Given the description of an element on the screen output the (x, y) to click on. 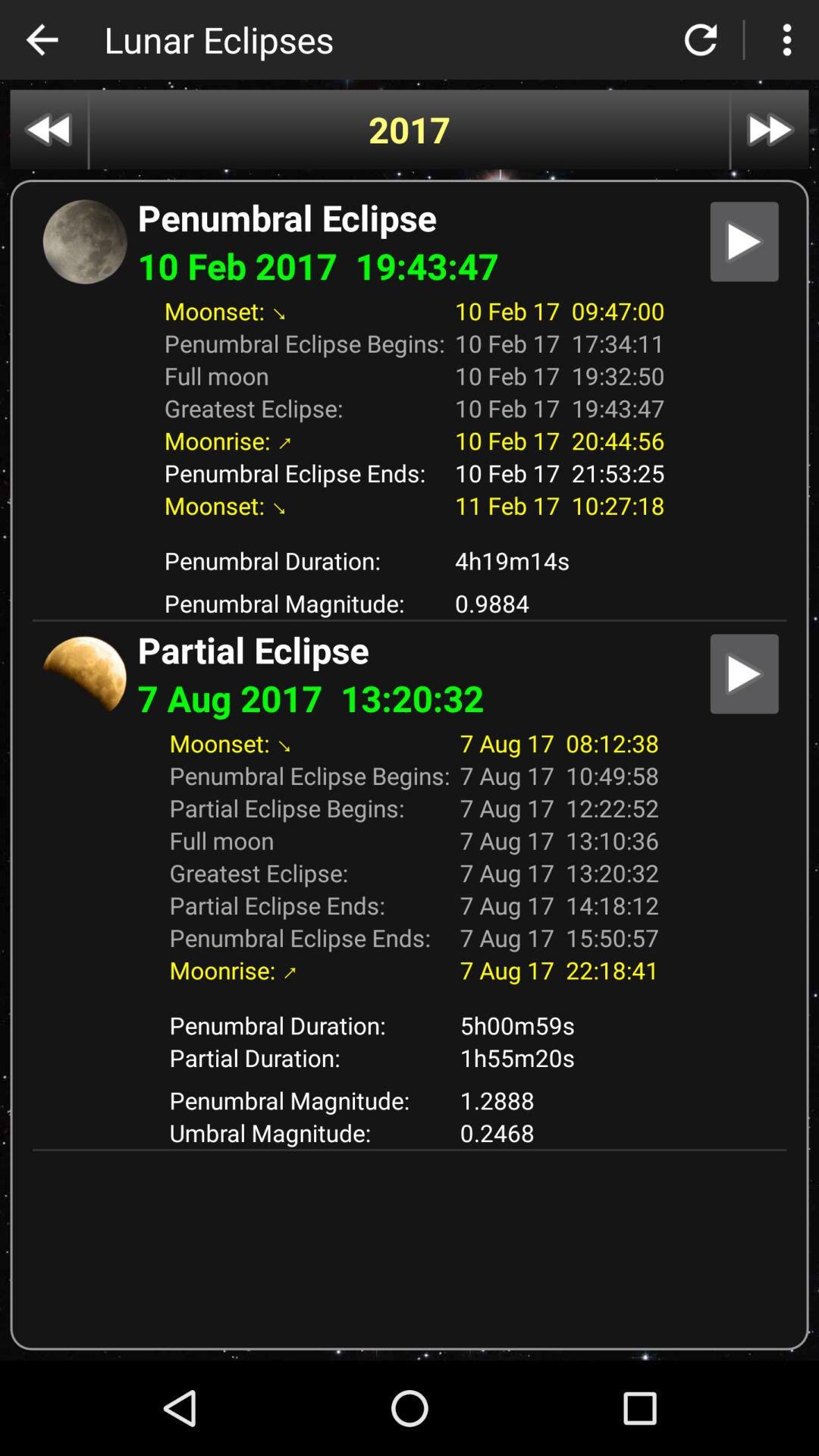
turn off the item below penumbral magnitude: icon (309, 1132)
